Given the description of an element on the screen output the (x, y) to click on. 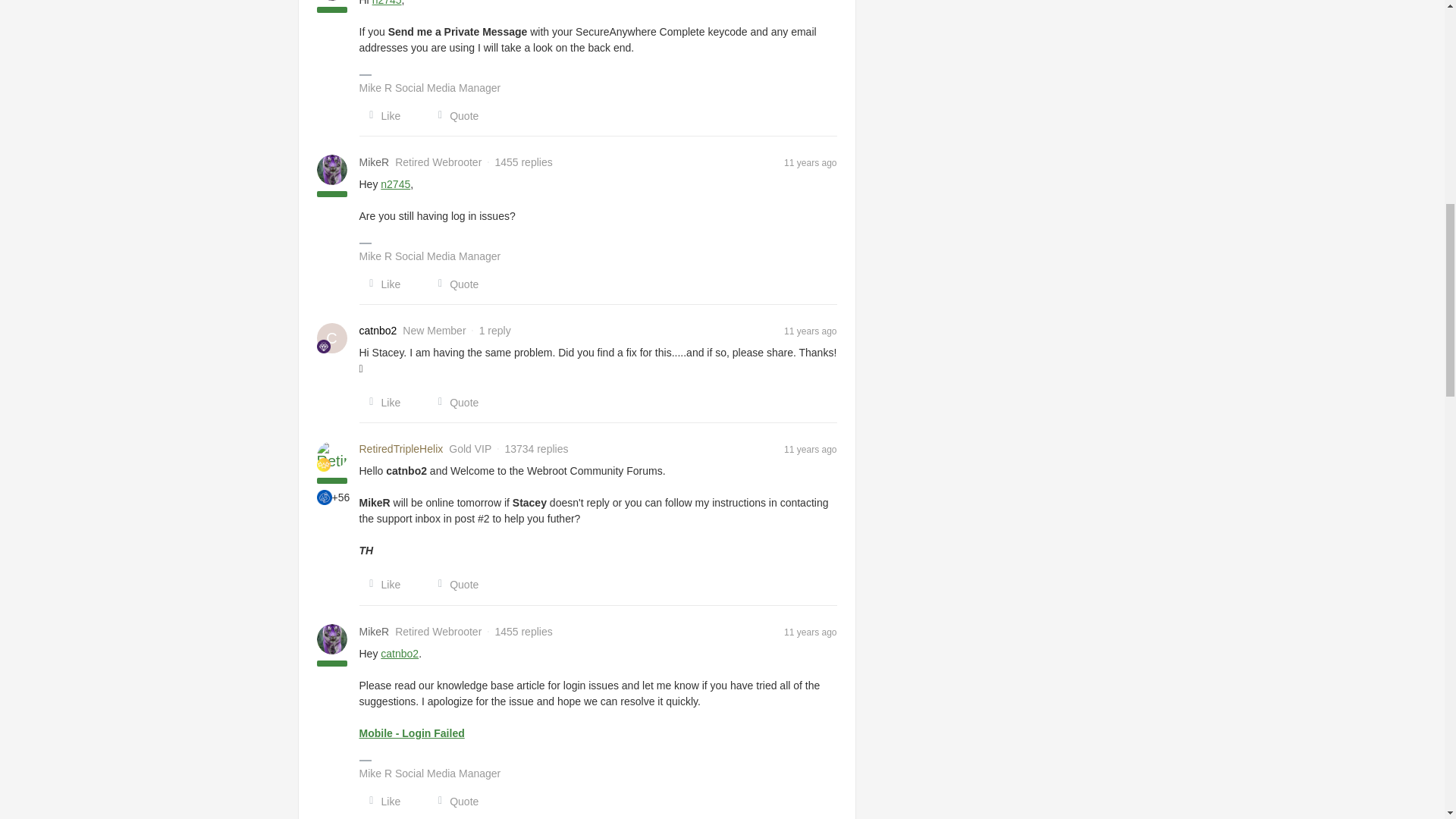
n2745 (395, 184)
MikeR (374, 162)
MikeR (374, 631)
Like (380, 283)
Most Wanted (324, 497)
n2745 (386, 2)
Quote (453, 283)
catnbo2 (378, 330)
RetiredTripleHelix (401, 449)
Quote (453, 115)
